Given the description of an element on the screen output the (x, y) to click on. 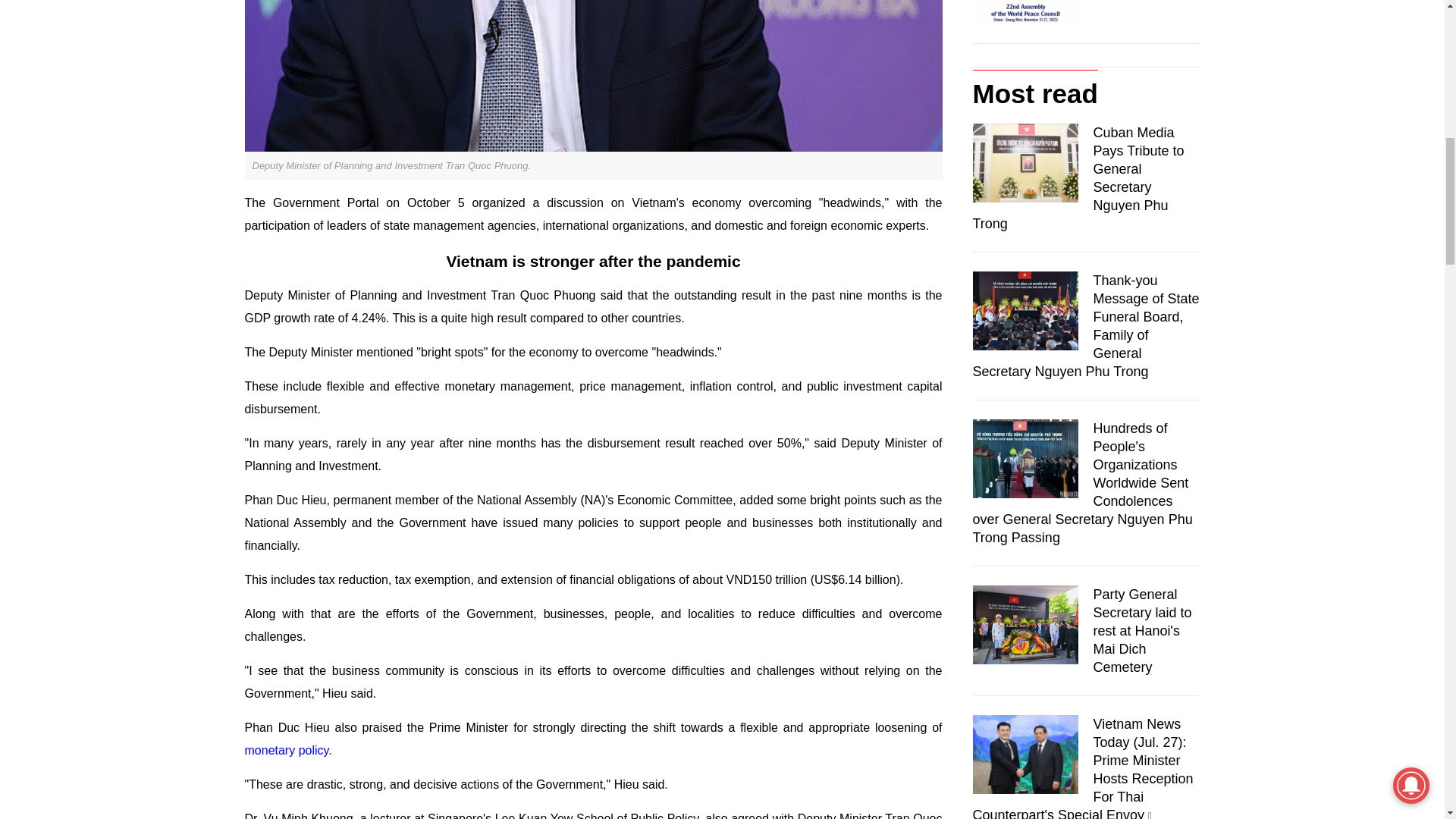
Vietnam Successfully Withstands  (593, 75)
monetary policy (286, 749)
